Given the description of an element on the screen output the (x, y) to click on. 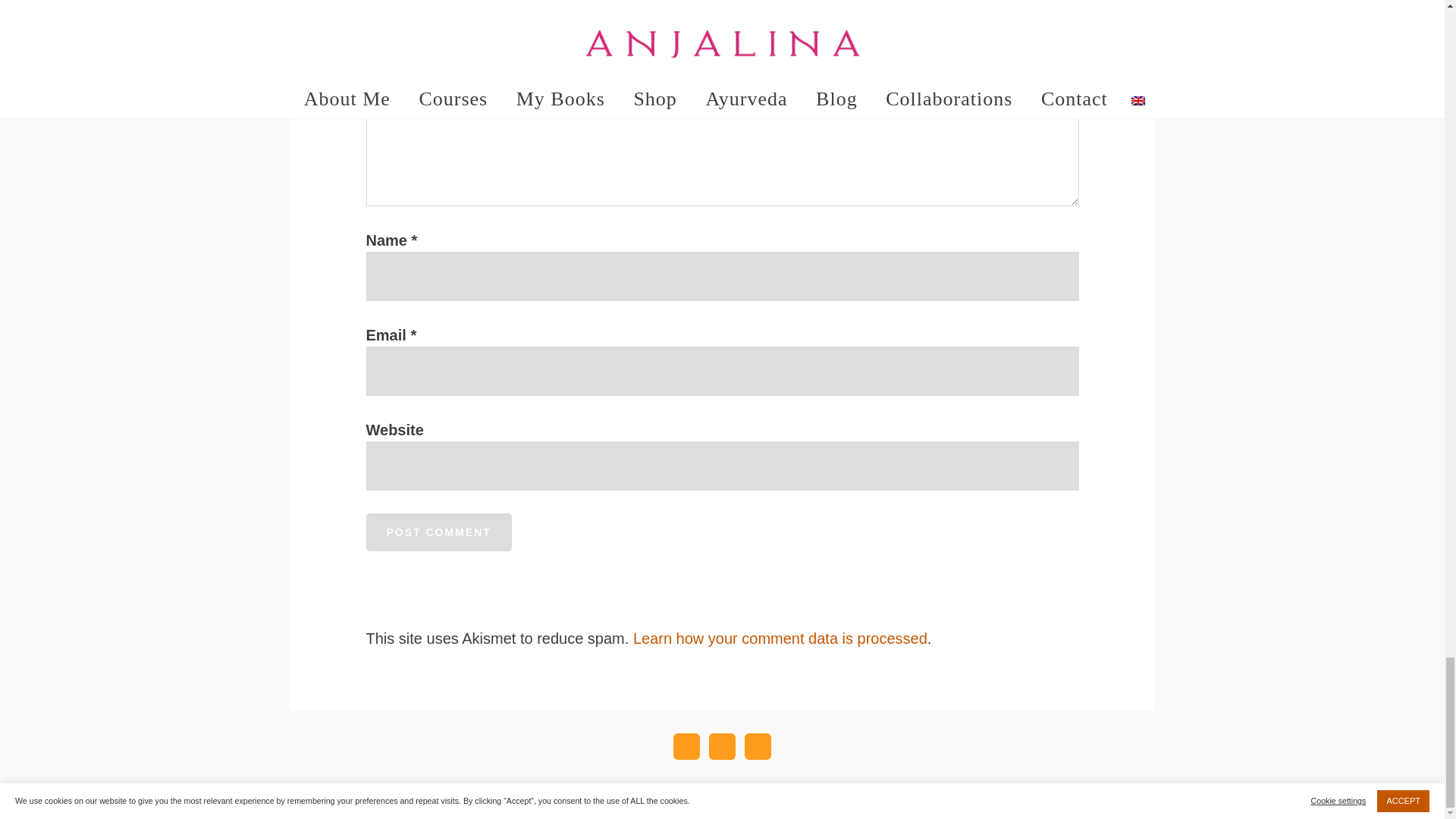
Learn how your comment data is processed (780, 638)
Post Comment (438, 532)
Post Comment (438, 532)
Textos Legales (753, 808)
